Given the description of an element on the screen output the (x, y) to click on. 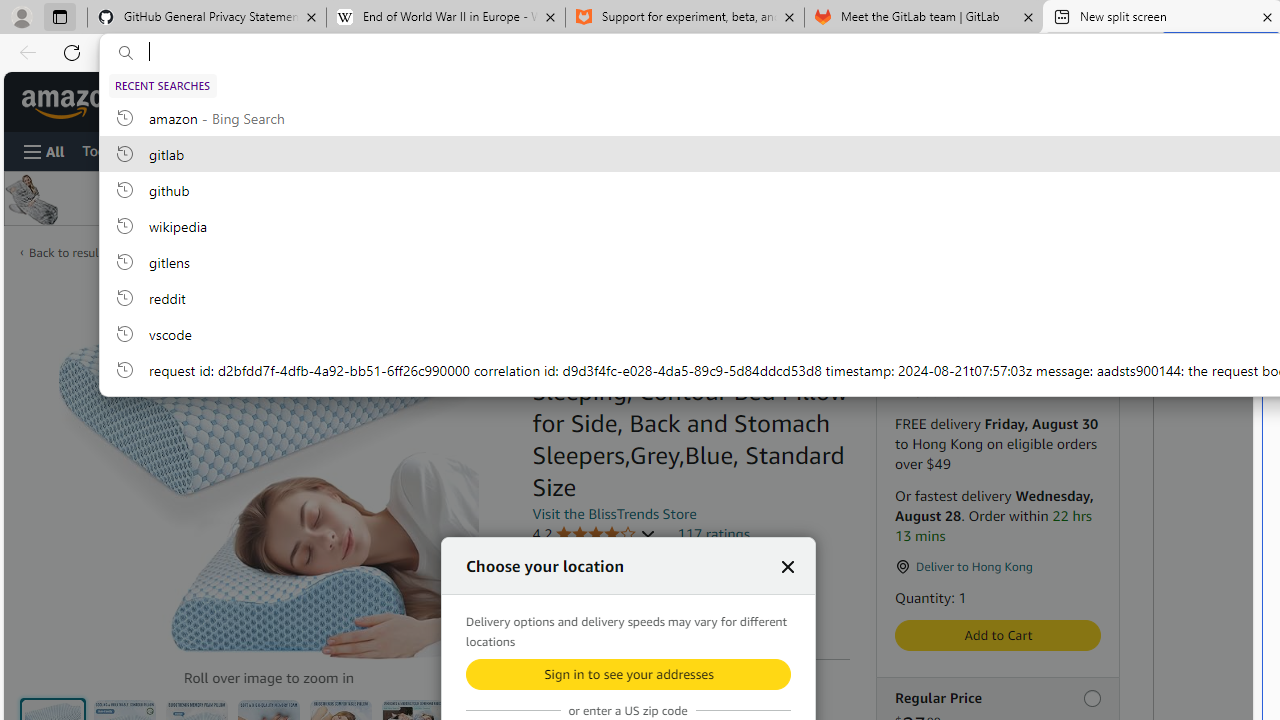
Amazon (72, 101)
Back to results (68, 251)
Hello, sign in Account & Lists (895, 101)
Sell (475, 150)
Today's Deals (124, 150)
Choose a language for shopping. (792, 101)
Deliver to Hong Kong (185, 101)
Skip to main content (86, 100)
Registry (339, 150)
Visit the BlissTrends Store (614, 513)
Sign in to see your addresses (628, 674)
